Given the description of an element on the screen output the (x, y) to click on. 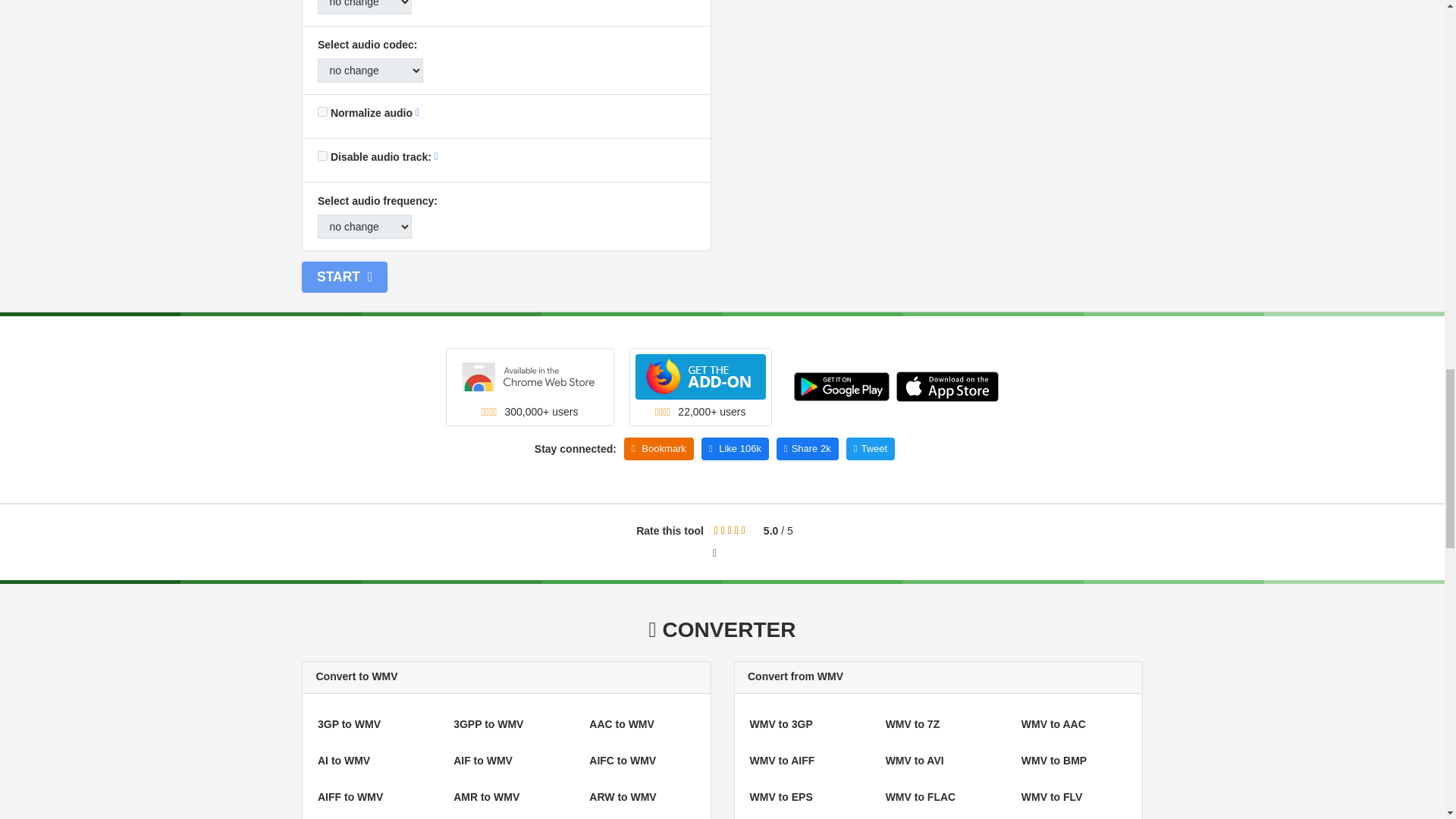
on (322, 112)
on (322, 155)
